Given the description of an element on the screen output the (x, y) to click on. 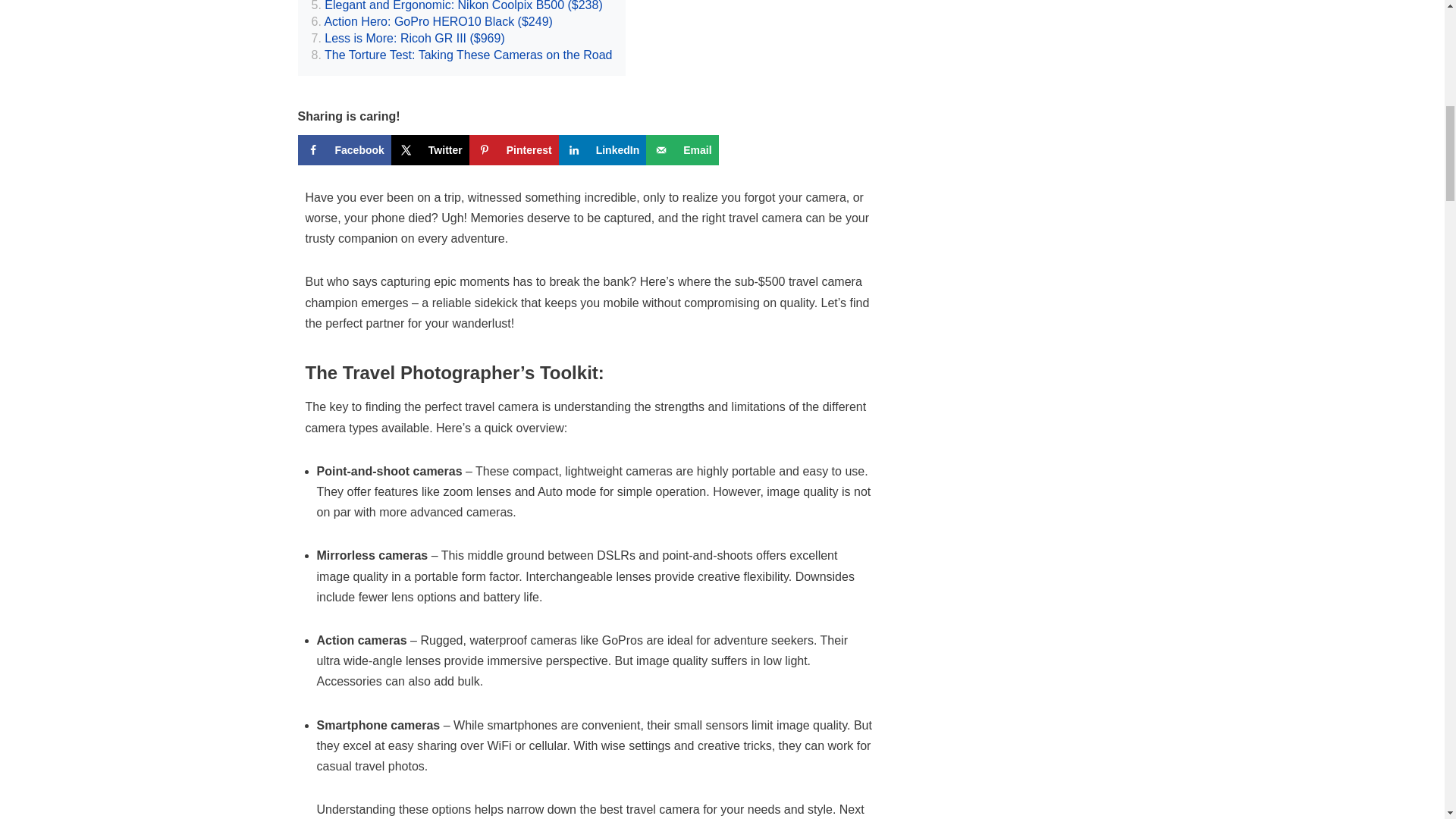
The Torture Test: Taking These Cameras on the Road (461, 54)
Share on X (429, 150)
Send over email (681, 150)
Share on LinkedIn (602, 150)
Save to Pinterest (513, 150)
Share on Facebook (343, 150)
